Given the description of an element on the screen output the (x, y) to click on. 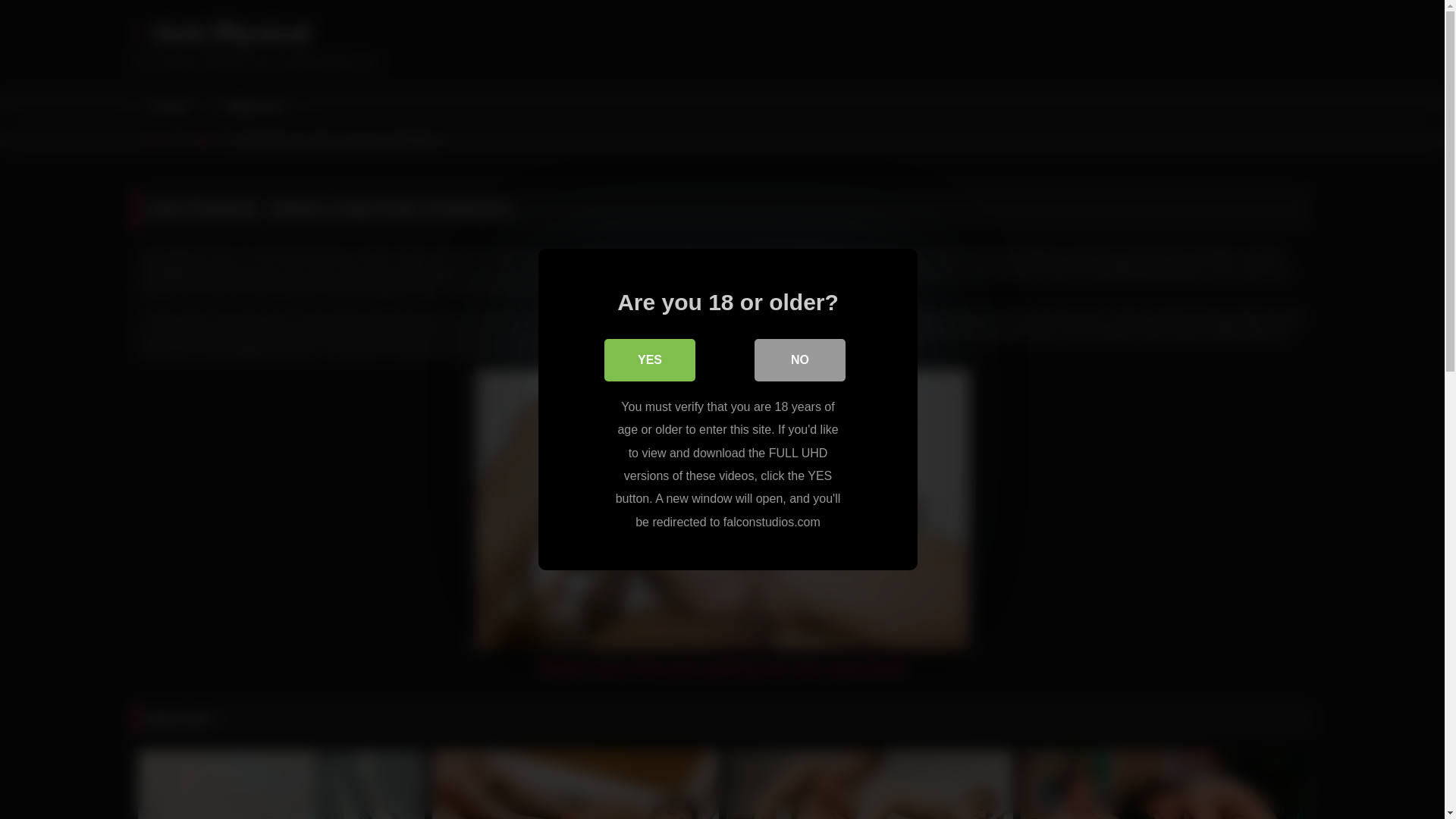
Watch here this jock getting his ass slammed! (722, 667)
Jock Physical (220, 32)
YES (649, 360)
Official Site (250, 108)
Tommy Defendi Fucks AJ Irons (575, 784)
Videos (201, 138)
Tommy Defendi Fucks AJ Irons (575, 784)
Home (169, 108)
Home (155, 138)
NO (799, 360)
